Given the description of an element on the screen output the (x, y) to click on. 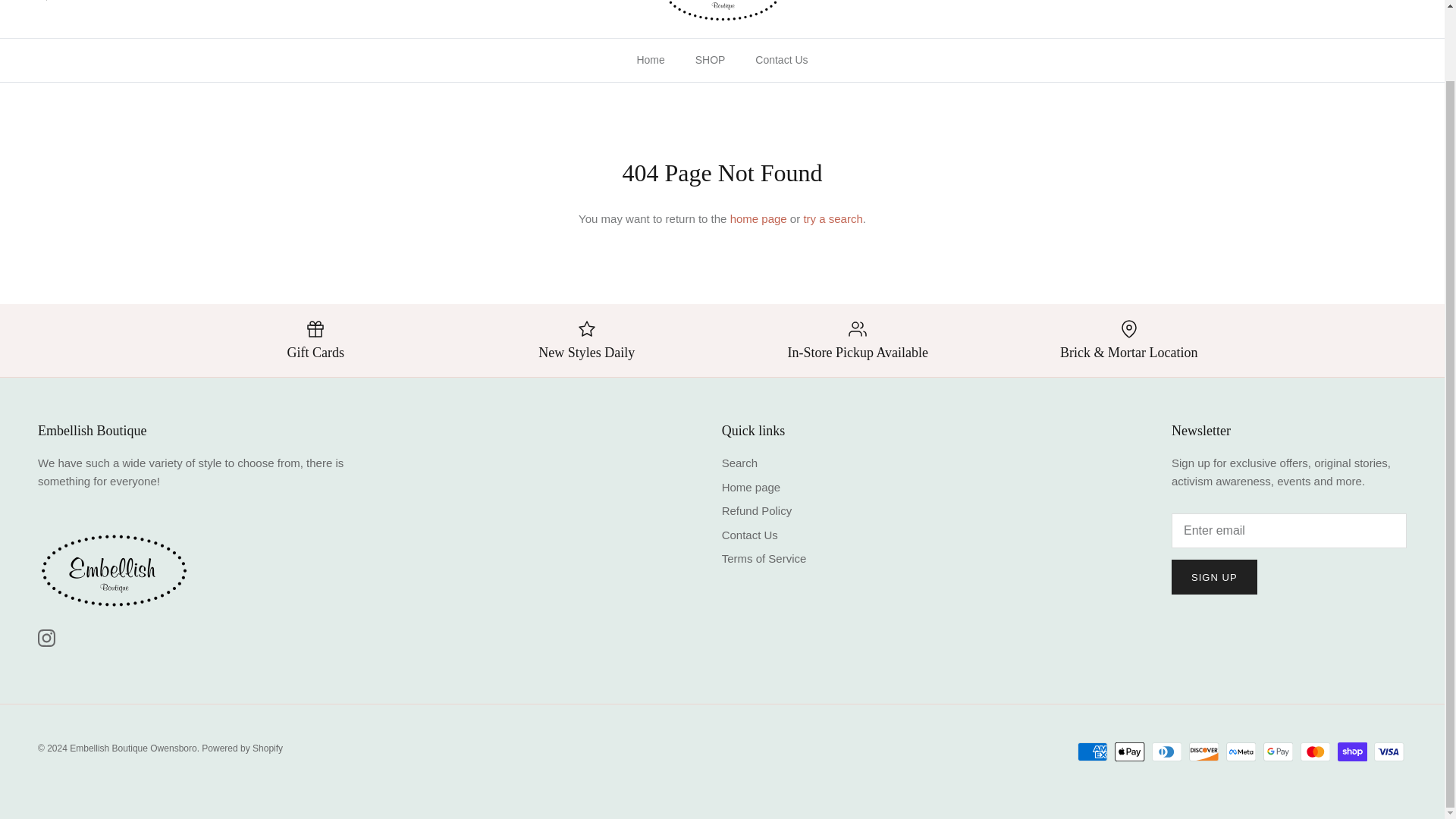
Discover (1203, 751)
Google Pay (1277, 751)
Meta Pay (1240, 751)
Search (57, 0)
American Express (1092, 751)
Mastercard (1315, 751)
Apple Pay (1129, 751)
Cart (1393, 0)
Home (650, 59)
Shop Pay (1352, 751)
Instagram (46, 638)
Embellish Boutique Owensboro (722, 11)
Contact Us (781, 59)
Visa (1388, 751)
SHOP (710, 59)
